Given the description of an element on the screen output the (x, y) to click on. 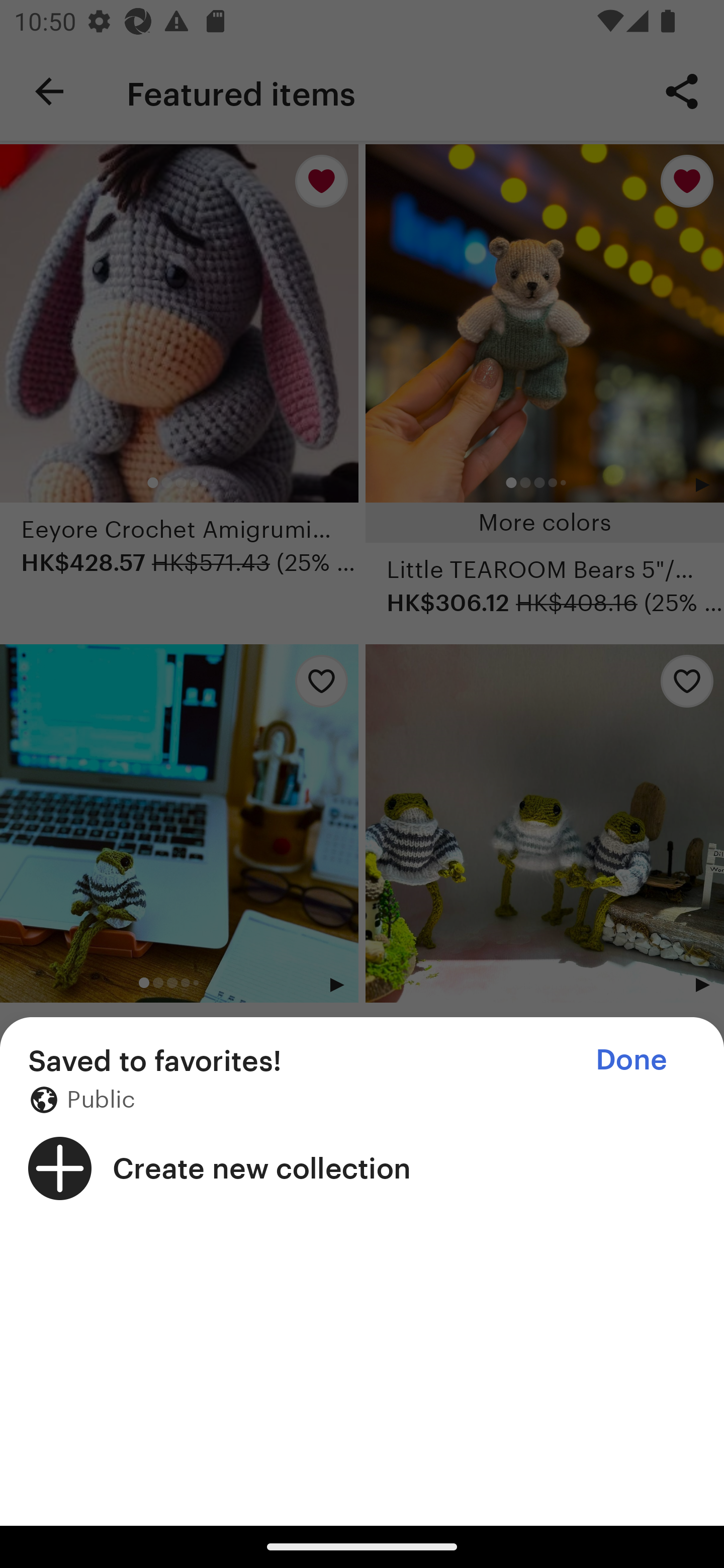
Done (630, 1059)
Create new collection (361, 1167)
